Given the description of an element on the screen output the (x, y) to click on. 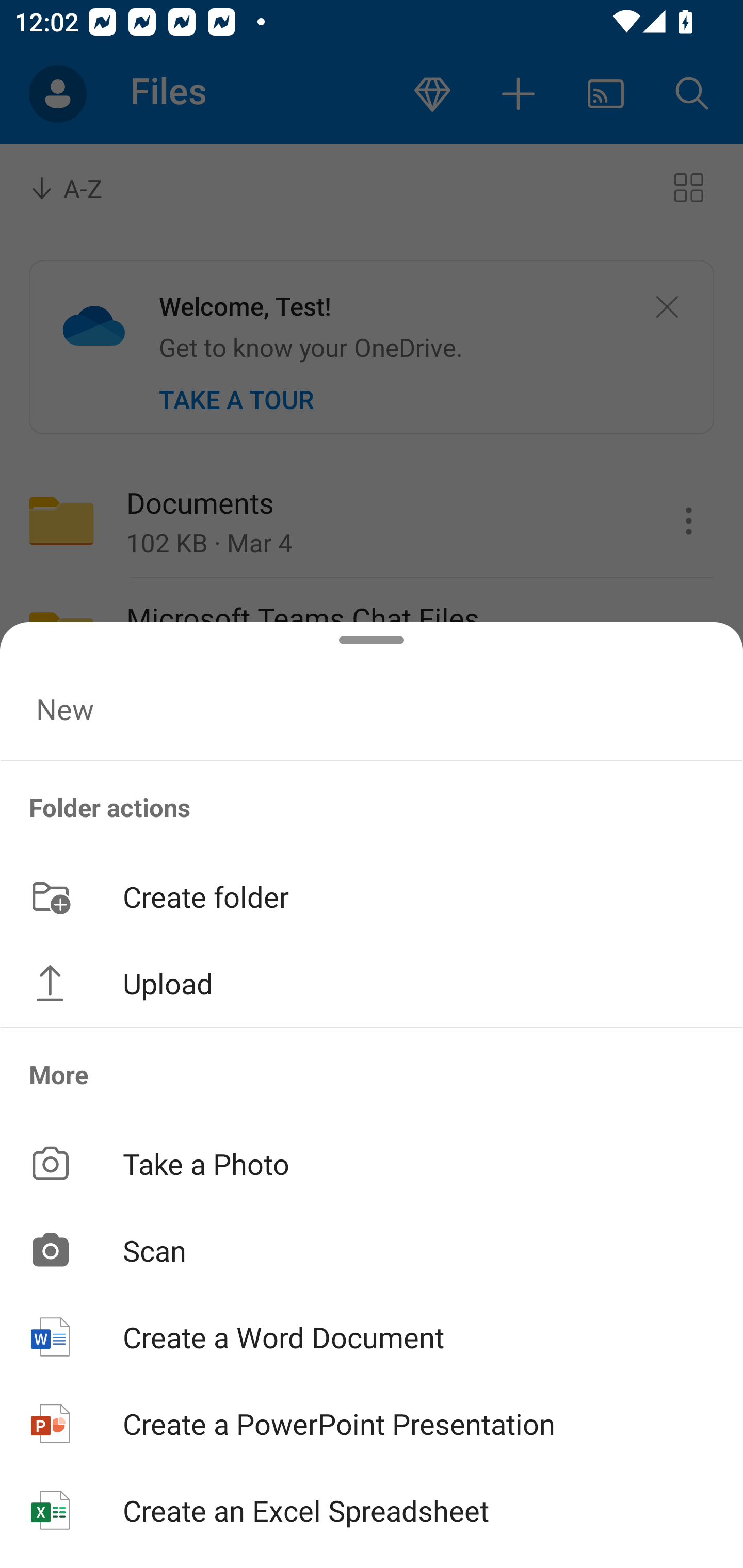
Create folder button Create folder (371, 895)
Upload button Upload (371, 983)
Take a Photo button Take a Photo (371, 1163)
Scan button Scan (371, 1250)
